Given the description of an element on the screen output the (x, y) to click on. 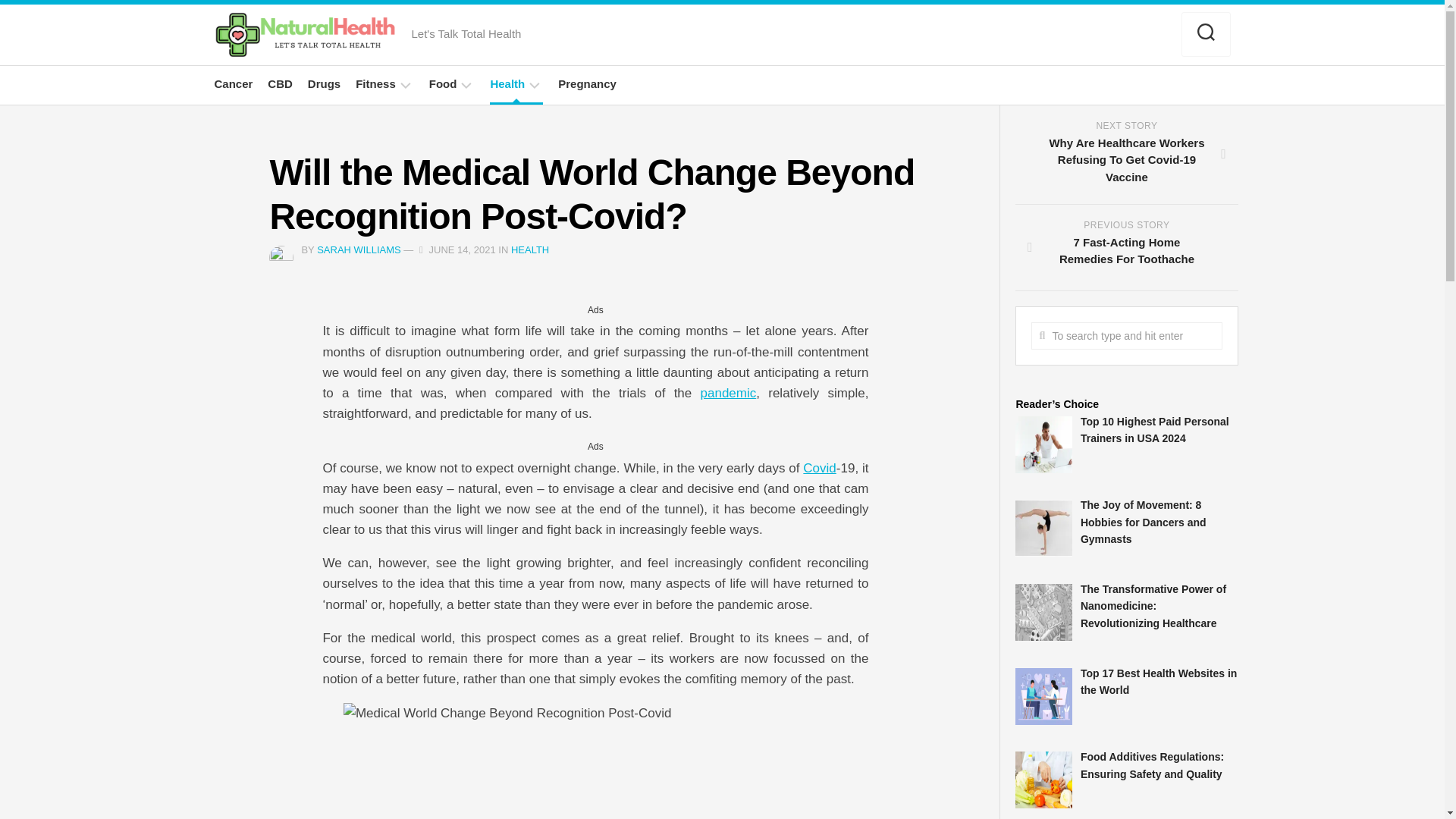
Medical World Change Beyond Recognition Post-Covid (595, 760)
Top 10 Highest Paid Personal Trainers in USA 2024 (1154, 430)
Cancer (232, 83)
How Long Are You Contagious With Coronavirus? (819, 468)
SARAH WILLIAMS (359, 249)
CBD (279, 83)
Drugs (1125, 247)
The Joy of Movement: 8 Hobbies for Dancers and Gymnasts (323, 83)
To search type and hit enter (1143, 521)
Fitness (1125, 335)
Covid (375, 83)
To search type and hit enter (819, 468)
pandemic (1125, 335)
